Given the description of an element on the screen output the (x, y) to click on. 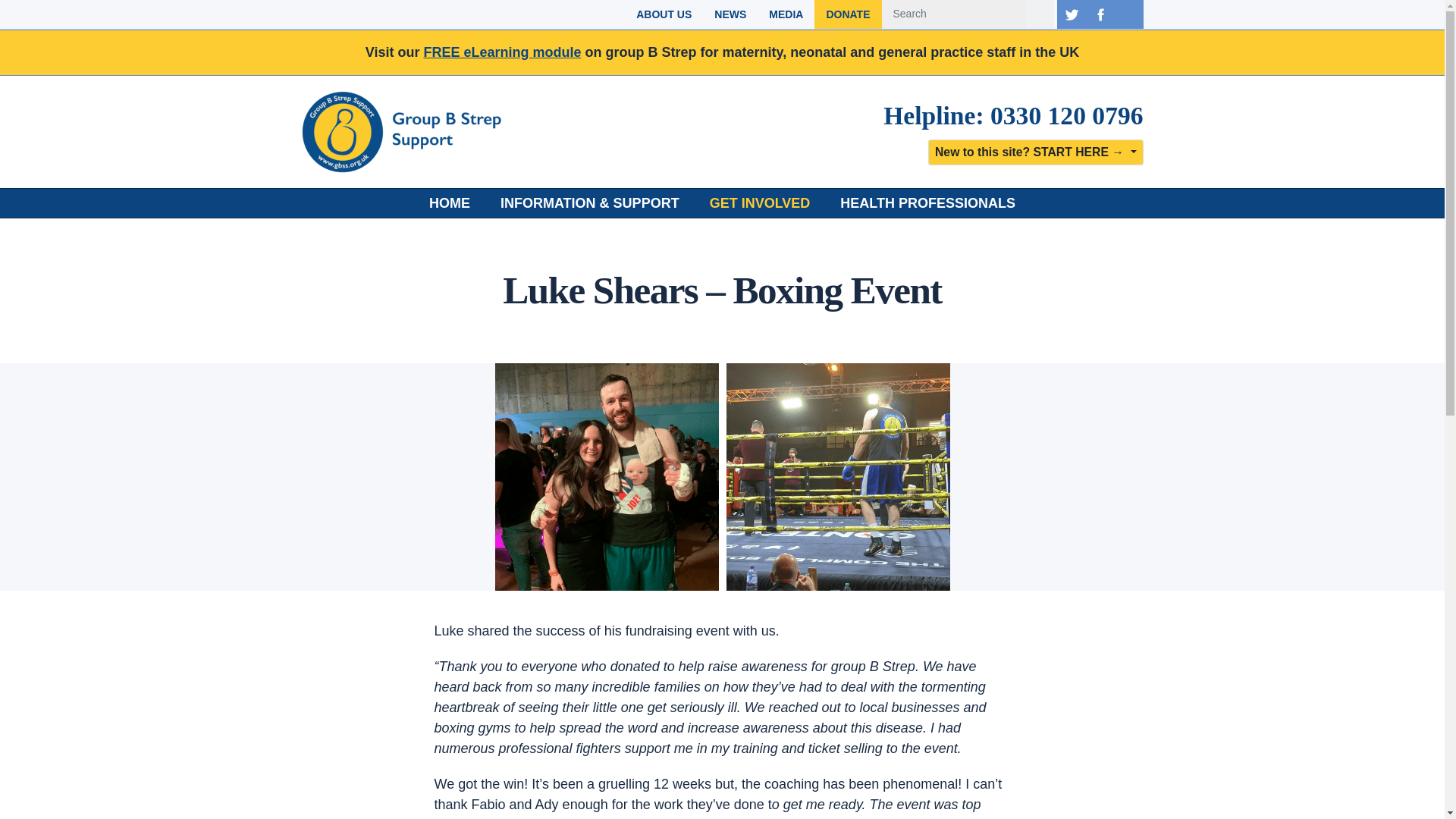
Group B Strep Support (415, 131)
Twitter (1071, 14)
SUBMIT (1039, 14)
HOME (449, 203)
Facebook (1100, 14)
ABOUT US (663, 14)
FREE eLearning module (501, 52)
MEDIA (785, 14)
NEWS (730, 14)
Cart (1128, 14)
